Given the description of an element on the screen output the (x, y) to click on. 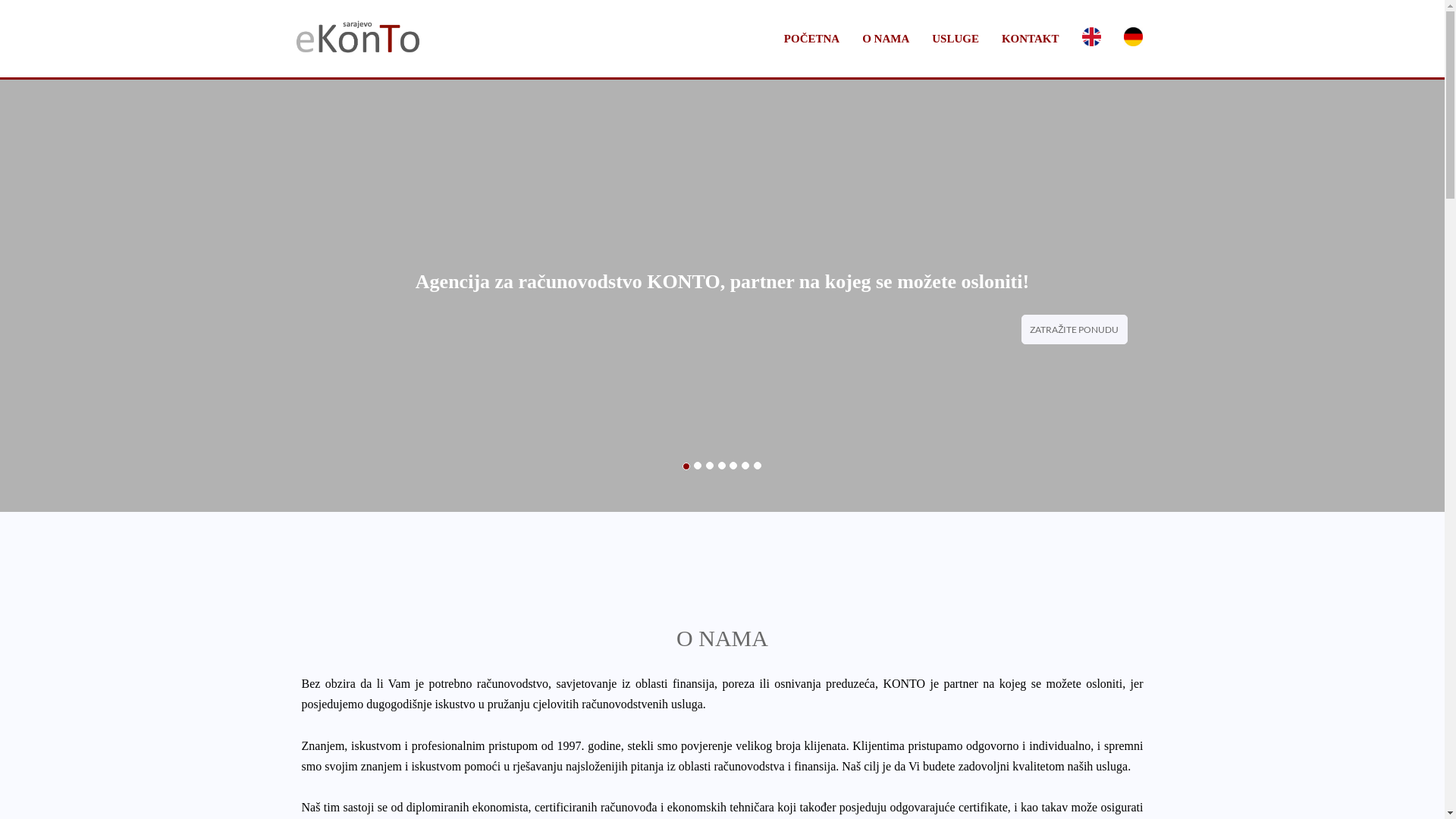
O NAMA Element type: text (885, 38)
USLUGE Element type: text (955, 38)
KONTAKT Element type: text (1030, 38)
